Given the description of an element on the screen output the (x, y) to click on. 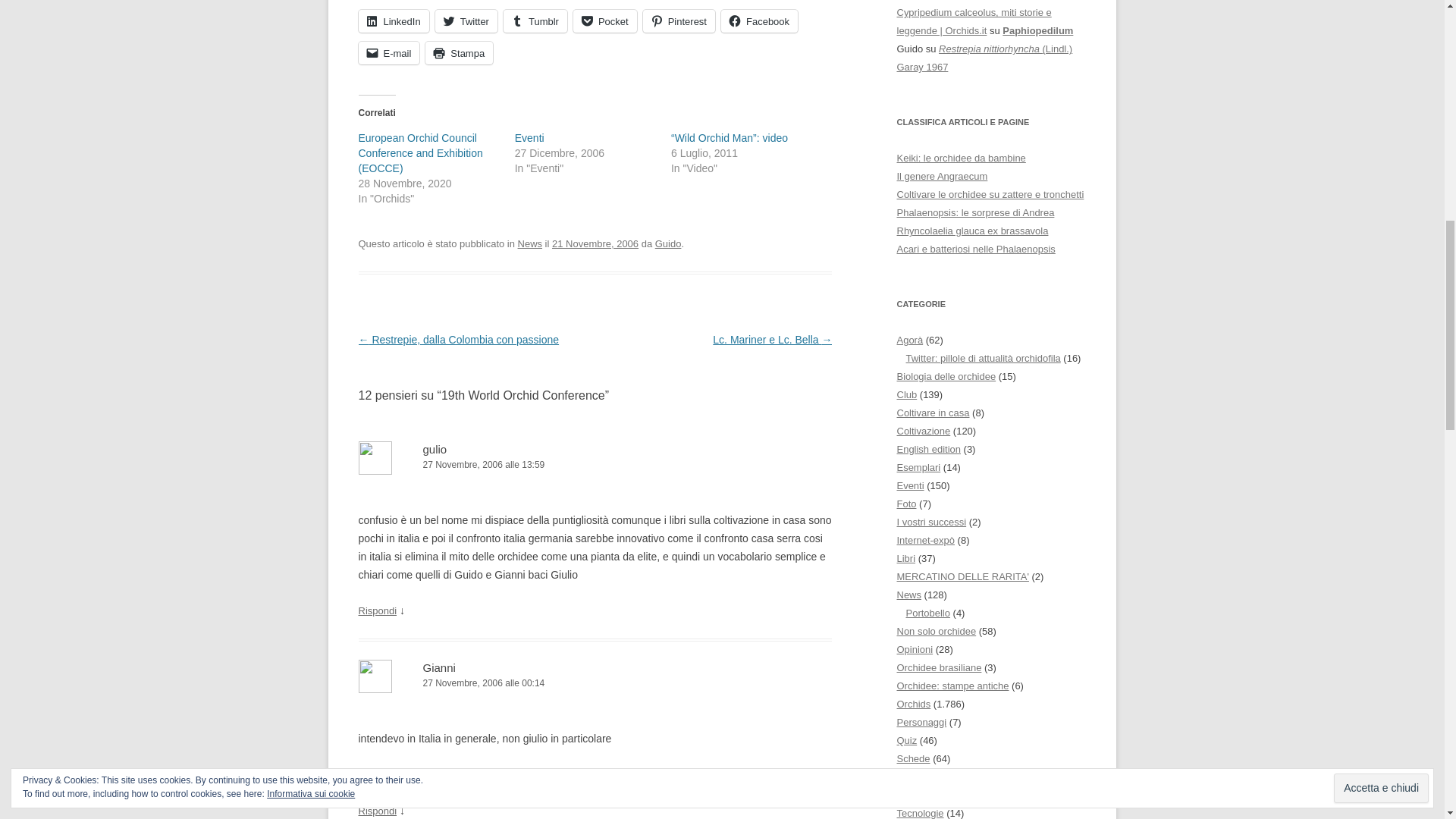
Guido (668, 243)
Visualizza tutti gli articoli di Guido (668, 243)
Pinterest (678, 20)
Fai clic qui per condividere su Pocket (605, 20)
Facebook (758, 20)
Fai clic qui per condividere su Twitter (466, 20)
27 Novembre, 2006 alle 13:59 (594, 465)
E-mail (388, 52)
Pocket (605, 20)
Tumblr (535, 20)
LinkedIn (393, 20)
Fai clic qui per condividere su Pinterest (678, 20)
09:03 (595, 243)
Fai clic per condividere su Facebook (758, 20)
Fai clic qui per condividere su Tumblr (535, 20)
